Given the description of an element on the screen output the (x, y) to click on. 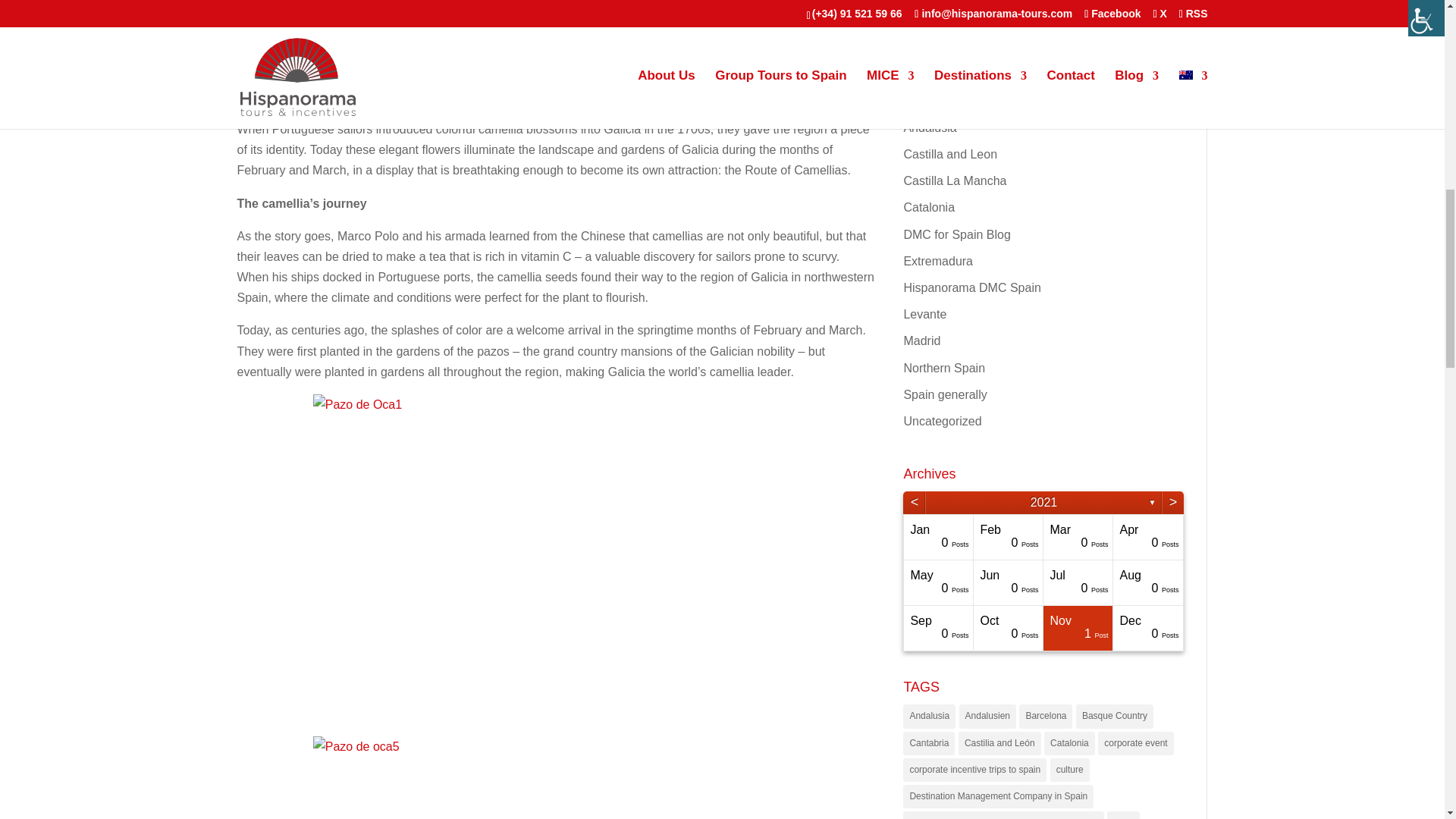
November, 2021 - 1 Post (1077, 628)
April, 2019 - 40 Posts (869, 537)
